Given the description of an element on the screen output the (x, y) to click on. 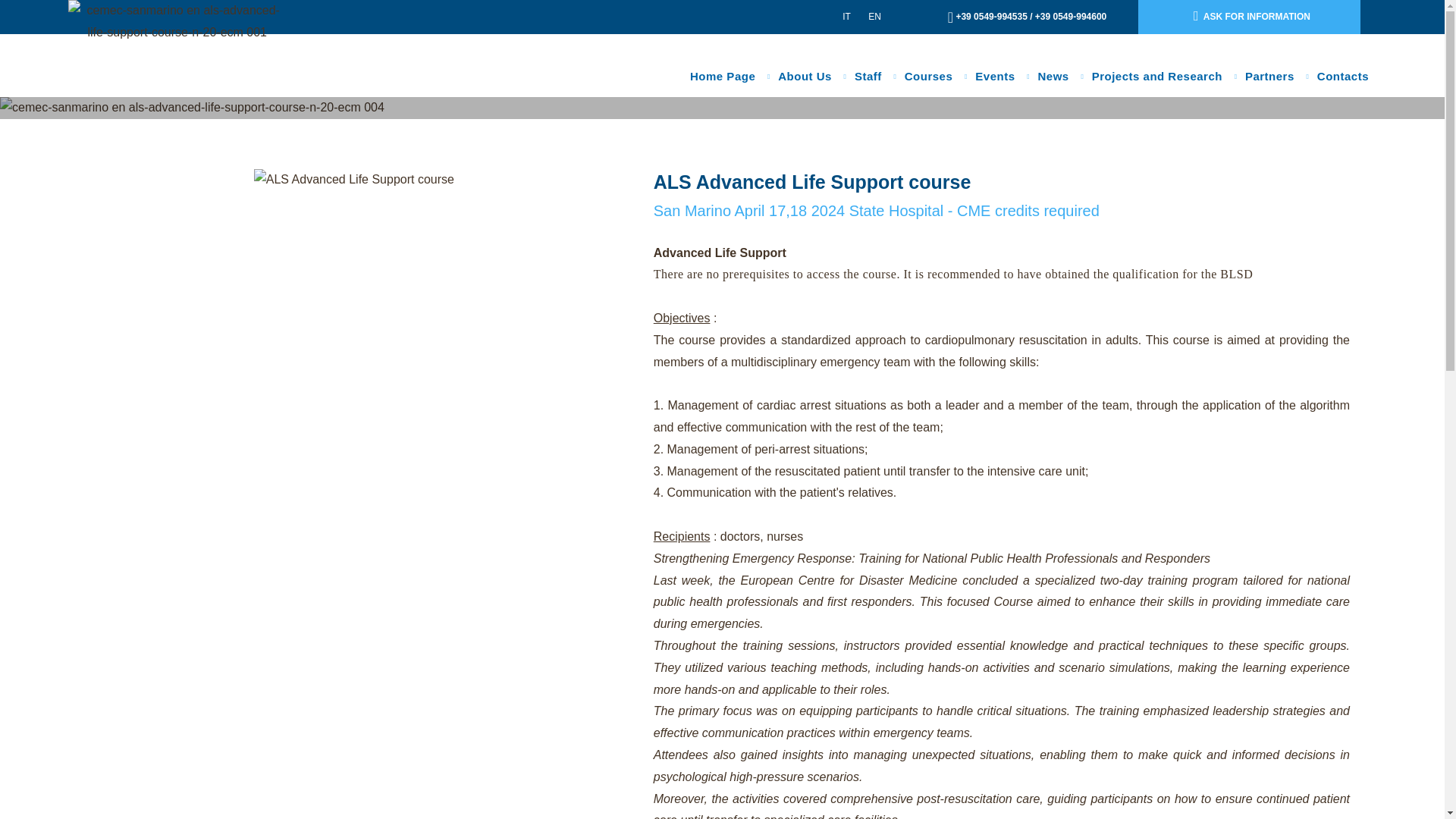
About Us (804, 76)
News (1052, 76)
Staff (867, 76)
 ASK FOR INFORMATION (1248, 17)
Events (994, 76)
EN (874, 16)
Courses (928, 76)
Home Page (721, 76)
Partners (1269, 76)
Projects and Research (1156, 76)
Contacts (1343, 76)
IT (846, 16)
